Given the description of an element on the screen output the (x, y) to click on. 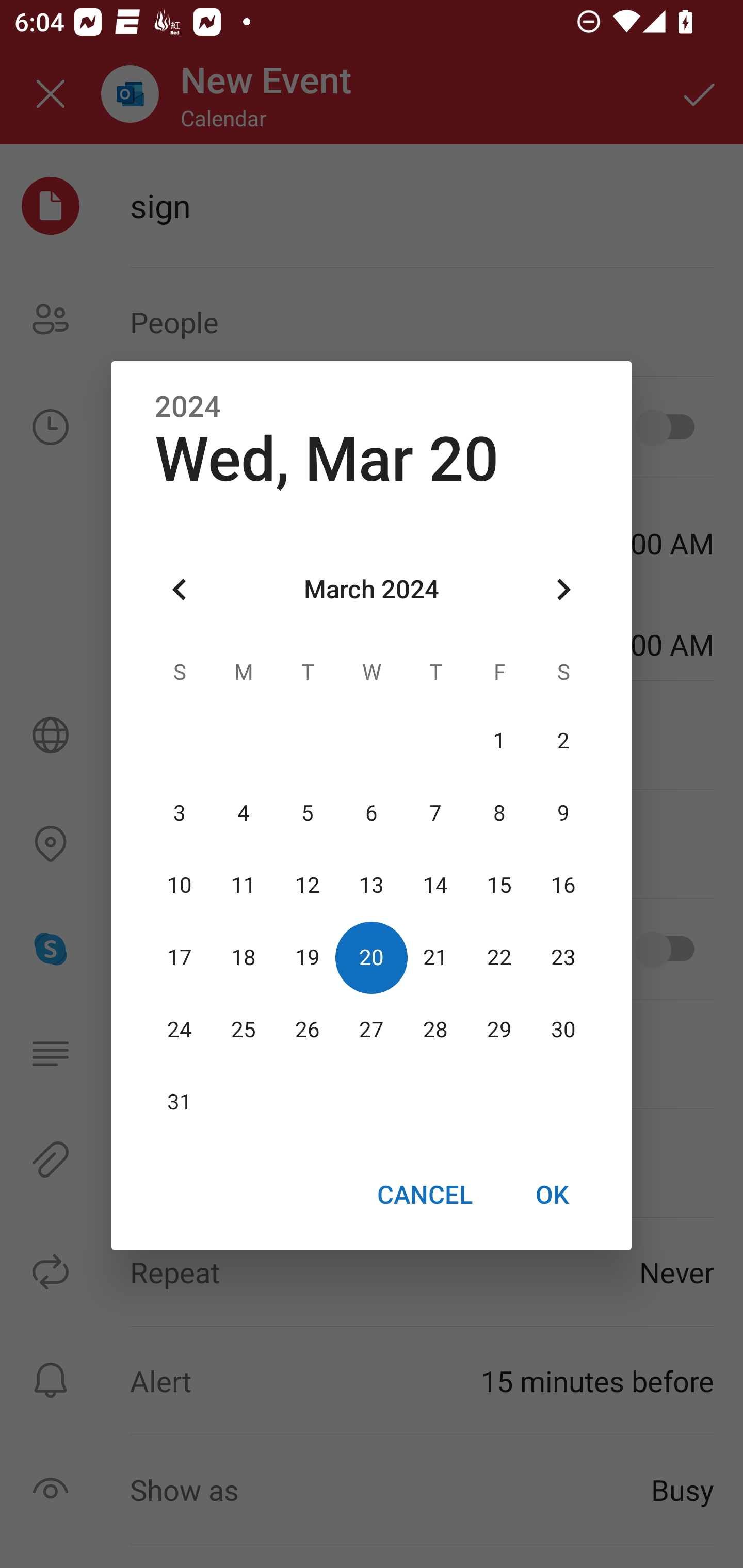
2024 (187, 406)
Wed, Mar 20 (326, 459)
Previous month (178, 589)
Next month (563, 589)
1 01 March 2024 (499, 741)
2 02 March 2024 (563, 741)
3 03 March 2024 (179, 813)
4 04 March 2024 (243, 813)
5 05 March 2024 (307, 813)
6 06 March 2024 (371, 813)
7 07 March 2024 (435, 813)
8 08 March 2024 (499, 813)
9 09 March 2024 (563, 813)
10 10 March 2024 (179, 885)
11 11 March 2024 (243, 885)
12 12 March 2024 (307, 885)
13 13 March 2024 (371, 885)
14 14 March 2024 (435, 885)
15 15 March 2024 (499, 885)
16 16 March 2024 (563, 885)
17 17 March 2024 (179, 957)
18 18 March 2024 (243, 957)
19 19 March 2024 (307, 957)
20 20 March 2024 (371, 957)
21 21 March 2024 (435, 957)
22 22 March 2024 (499, 957)
23 23 March 2024 (563, 957)
24 24 March 2024 (179, 1030)
25 25 March 2024 (243, 1030)
26 26 March 2024 (307, 1030)
27 27 March 2024 (371, 1030)
28 28 March 2024 (435, 1030)
29 29 March 2024 (499, 1030)
30 30 March 2024 (563, 1030)
31 31 March 2024 (179, 1102)
CANCEL (424, 1194)
OK (552, 1194)
